Given the description of an element on the screen output the (x, y) to click on. 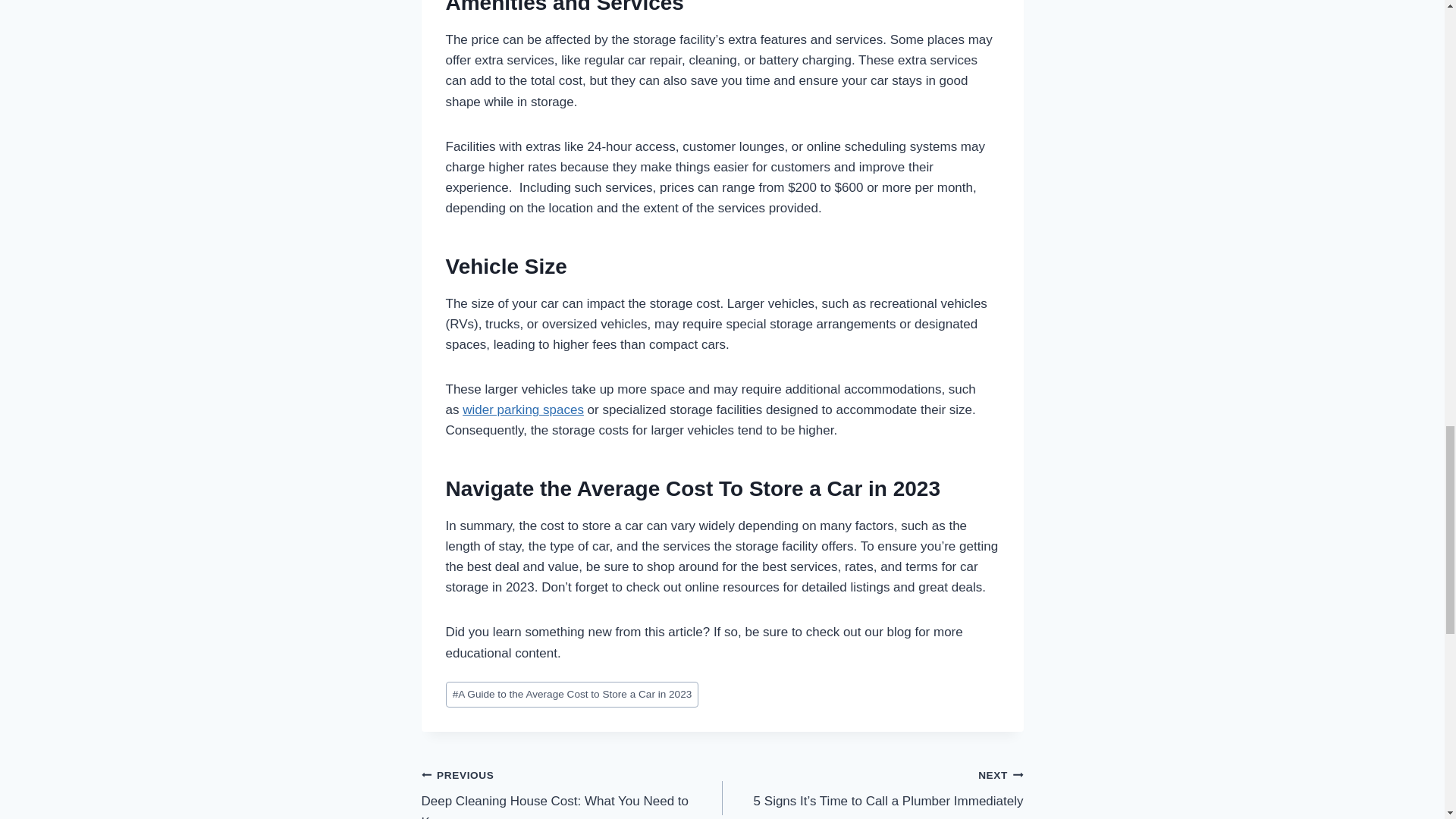
wider parking spaces (523, 409)
A Guide to the Average Cost to Store a Car in 2023 (571, 694)
